Given the description of an element on the screen output the (x, y) to click on. 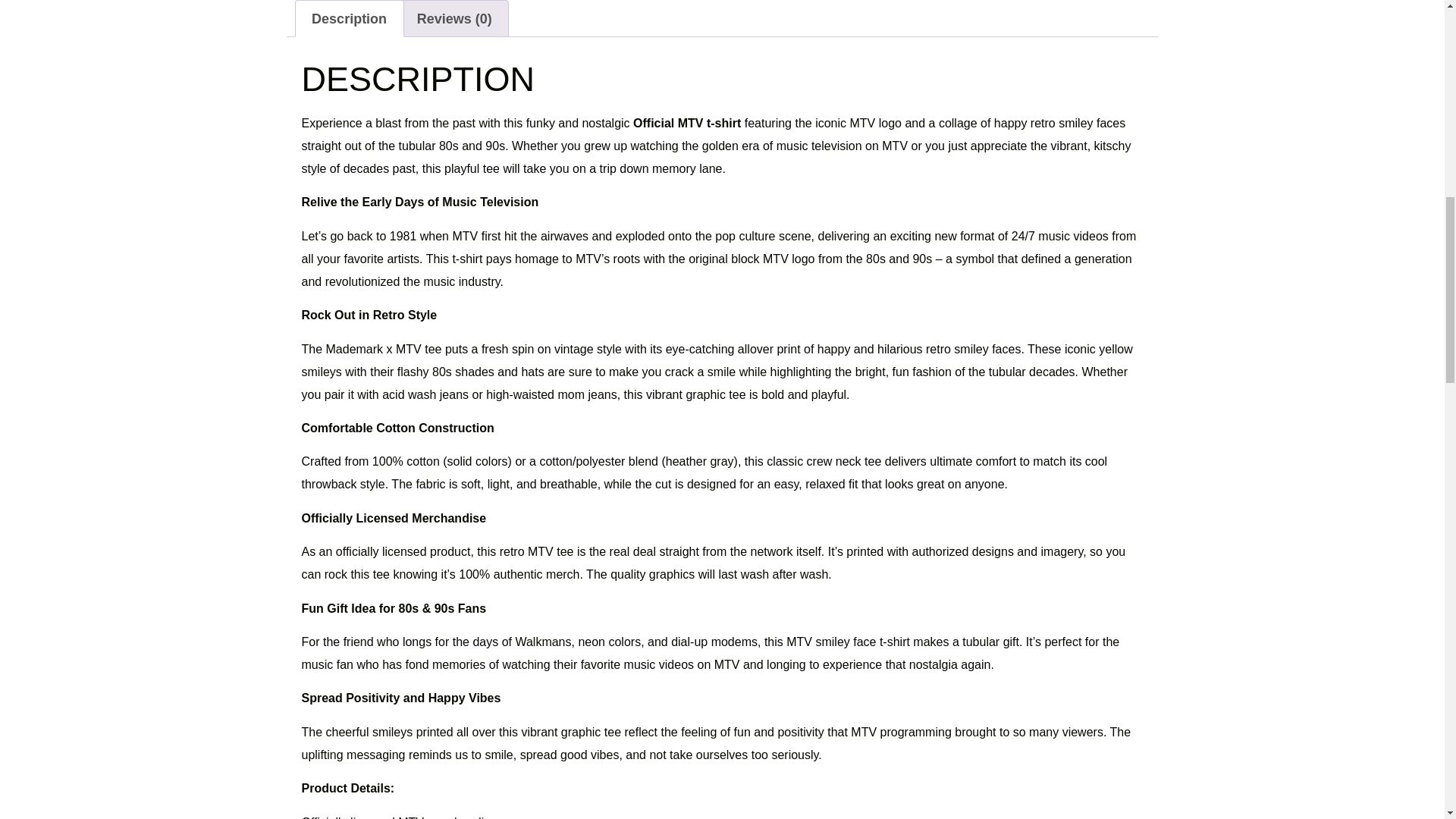
Description (349, 18)
